Given the description of an element on the screen output the (x, y) to click on. 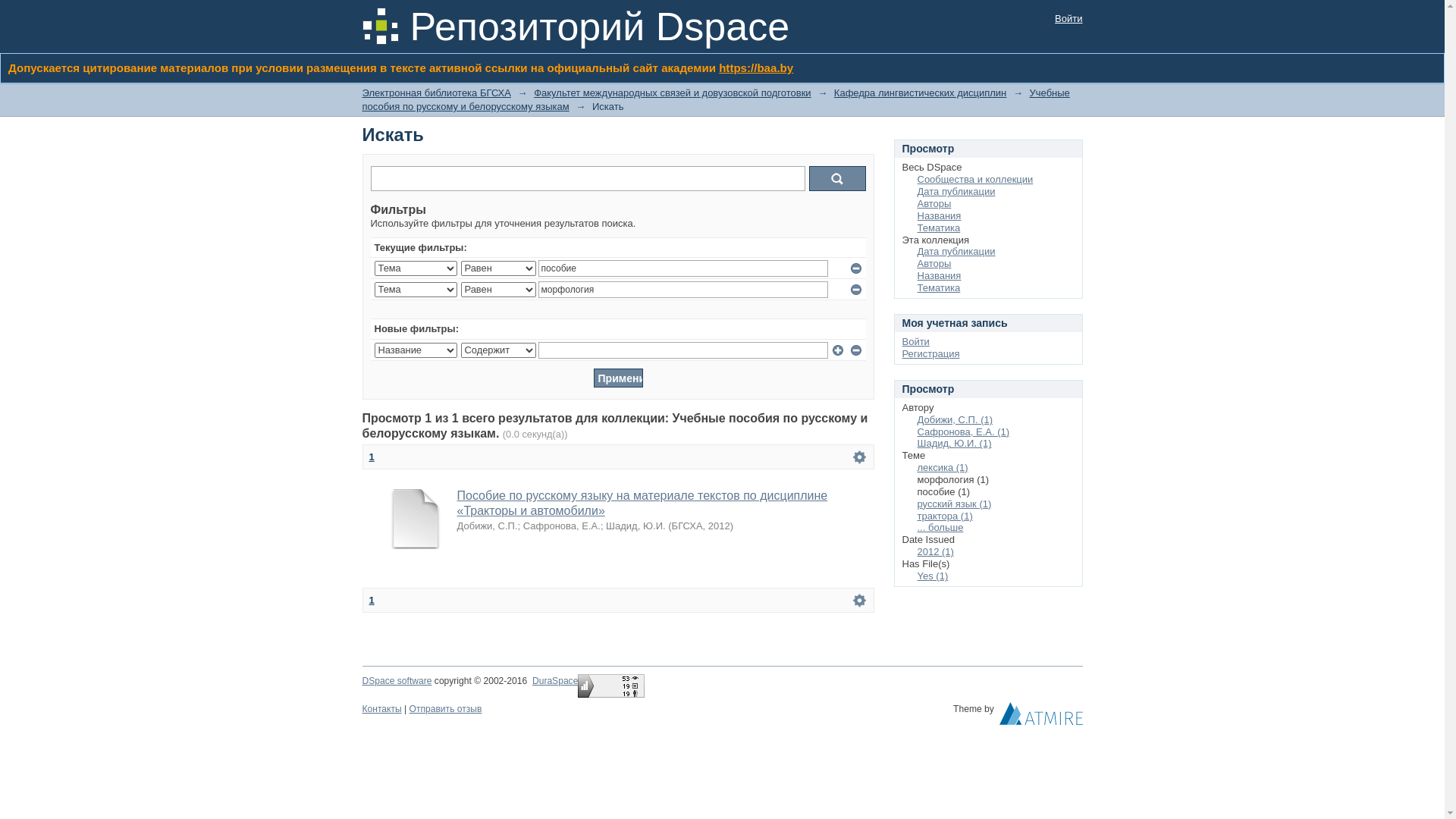
https://baa.by Element type: text (755, 67)
1 Element type: text (370, 599)
DuraSpace Element type: text (554, 680)
  Element type: text (858, 599)
Yes (1) Element type: text (932, 575)
  Element type: text (858, 456)
  Element type: text (1040, 717)
DSpace software Element type: text (397, 680)
1 Element type: text (370, 456)
Atmire NV Element type: hover (1040, 717)
Ok Element type: text (836, 178)
2012 (1) Element type: text (935, 551)
